Given the description of an element on the screen output the (x, y) to click on. 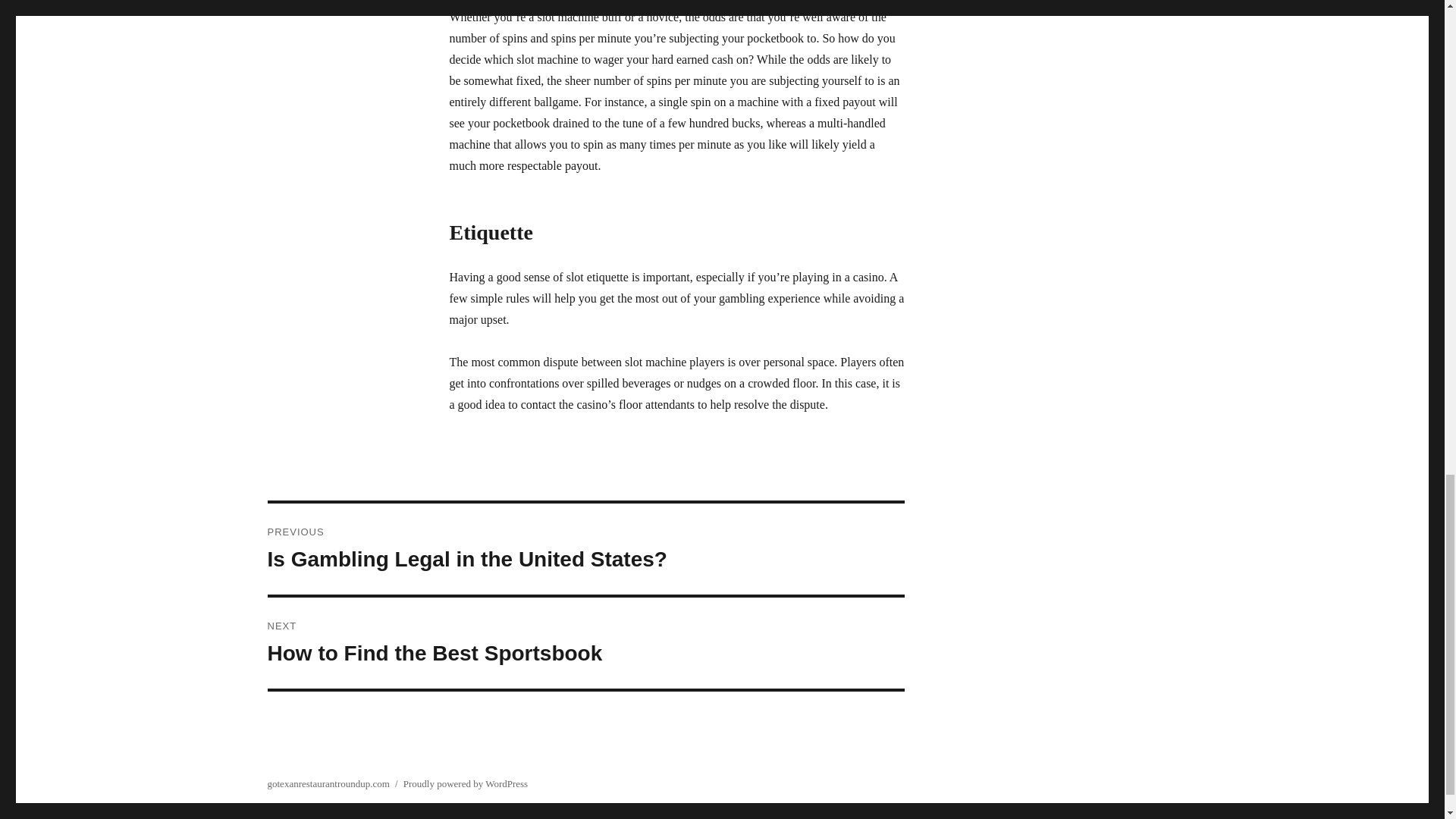
gotexanrestaurantroundup.com (585, 642)
Proudly powered by WordPress (327, 783)
